Given the description of an element on the screen output the (x, y) to click on. 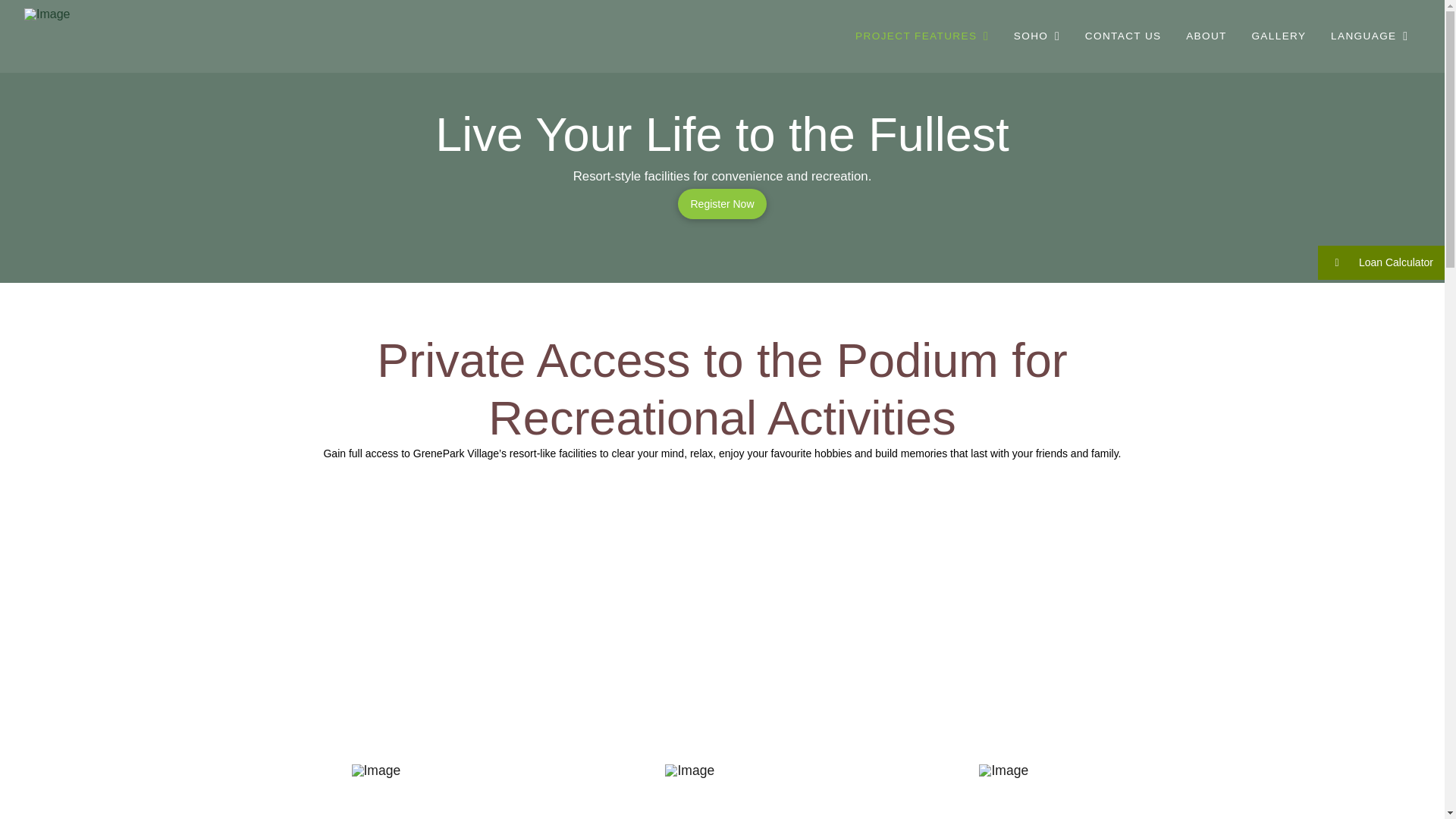
GALLERY (1278, 36)
Register Now (722, 204)
PROJECT FEATURES (922, 36)
ABOUT (1206, 36)
SOHO (1036, 36)
CONTACT US (1122, 36)
LANGUAGE (1369, 36)
